Given the description of an element on the screen output the (x, y) to click on. 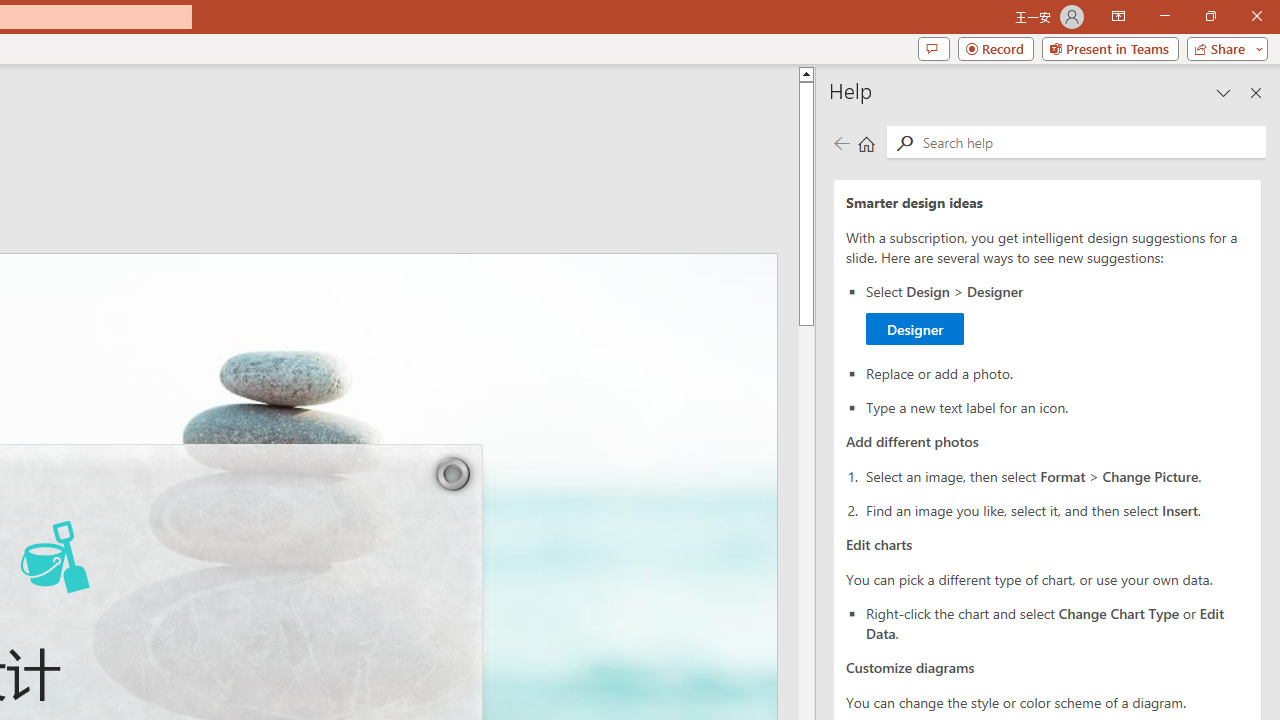
Type a new text label for an icon. (1057, 406)
Select an image, then select Format > Change Picture. (1057, 314)
Find an image you like, select it, and then select Insert. (1057, 475)
